Given the description of an element on the screen output the (x, y) to click on. 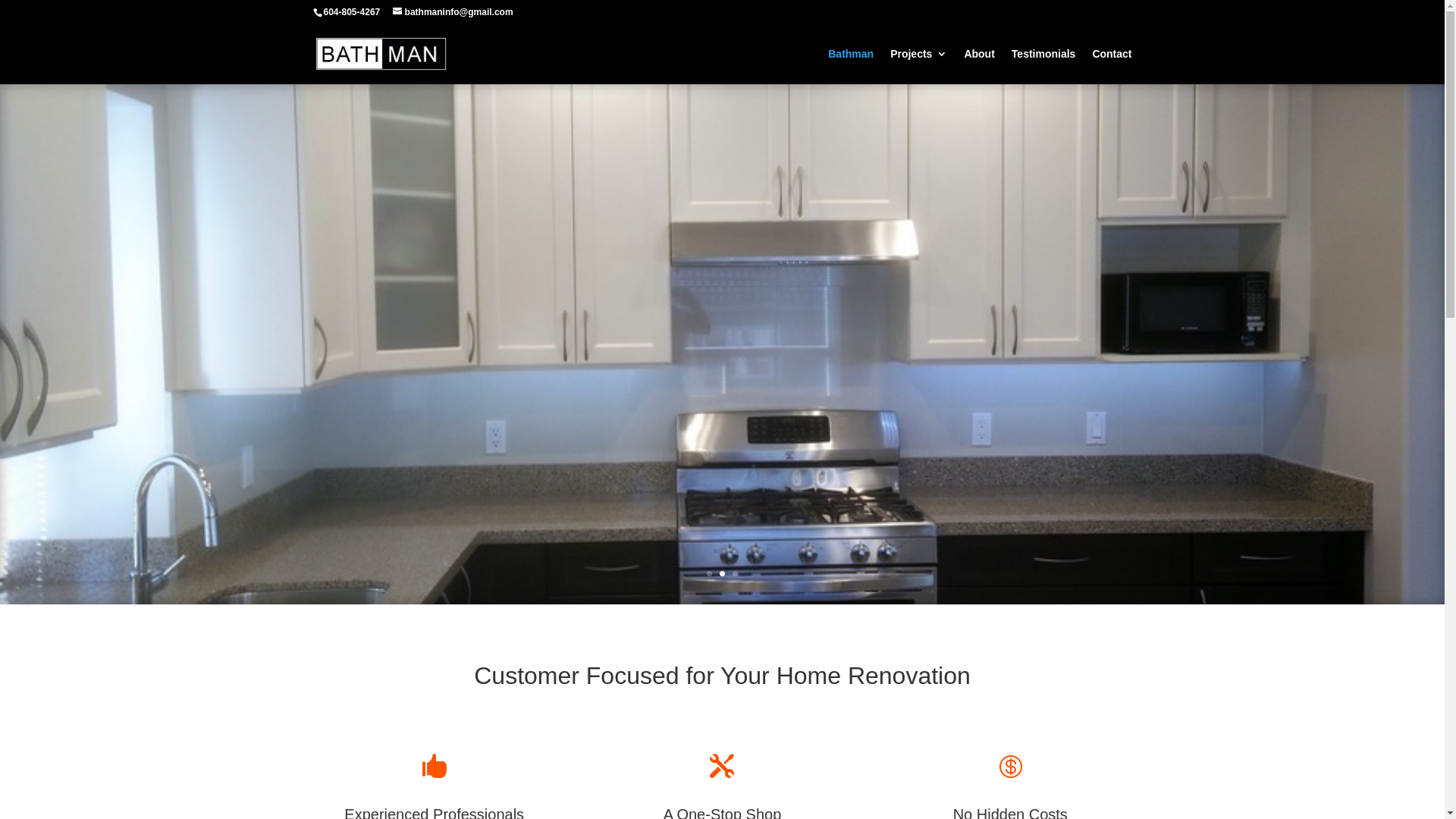
Contact Element type: text (1111, 66)
bathmaninfo@gmail.com Element type: text (452, 11)
Testimonials Element type: text (1043, 66)
Bathman Element type: text (850, 66)
About Element type: text (978, 66)
1 Element type: text (709, 573)
3 Element type: text (734, 573)
Projects Element type: text (918, 66)
2 Element type: text (721, 573)
